Given the description of an element on the screen output the (x, y) to click on. 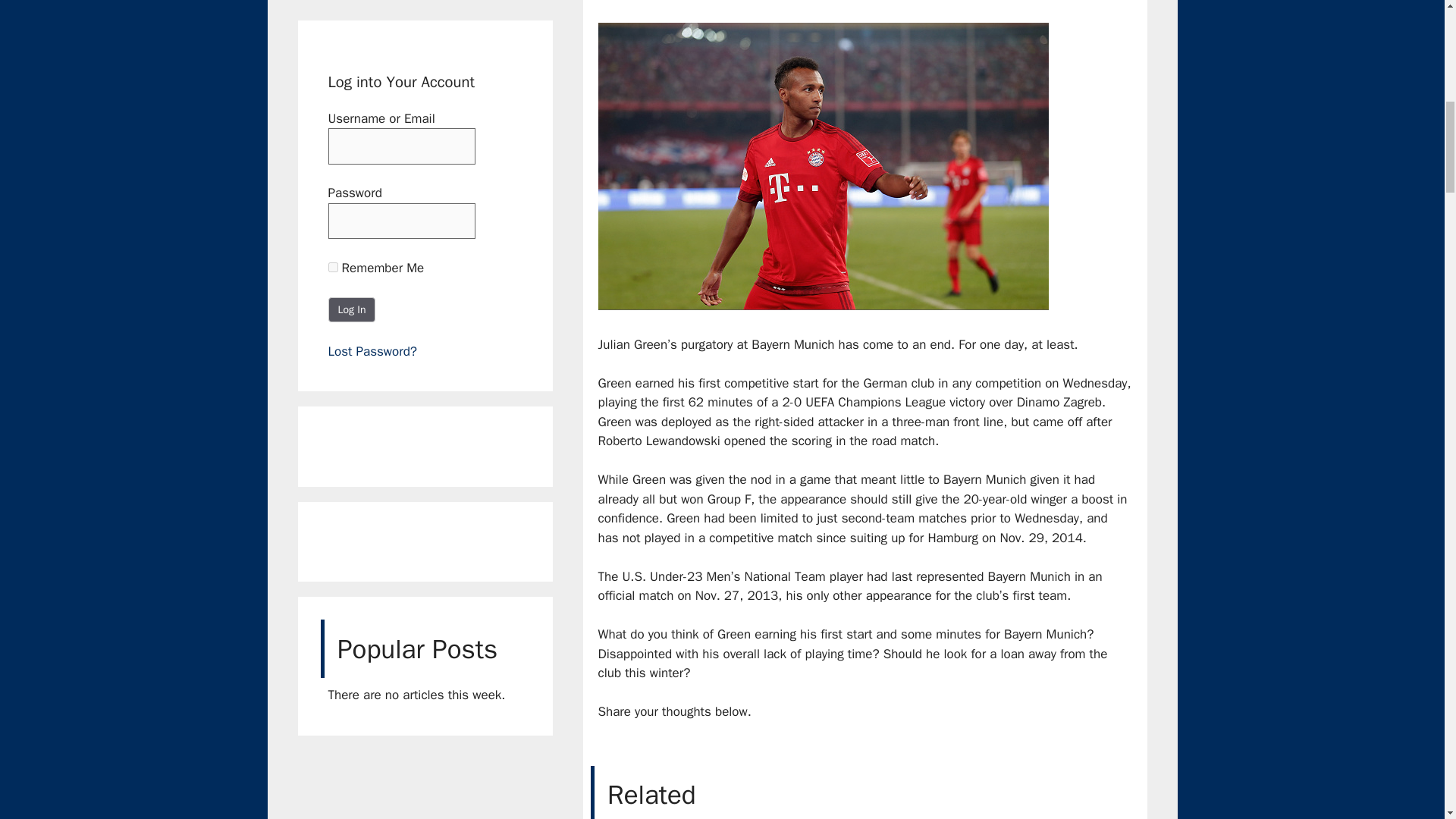
Log In (351, 309)
forever (332, 266)
